Given the description of an element on the screen output the (x, y) to click on. 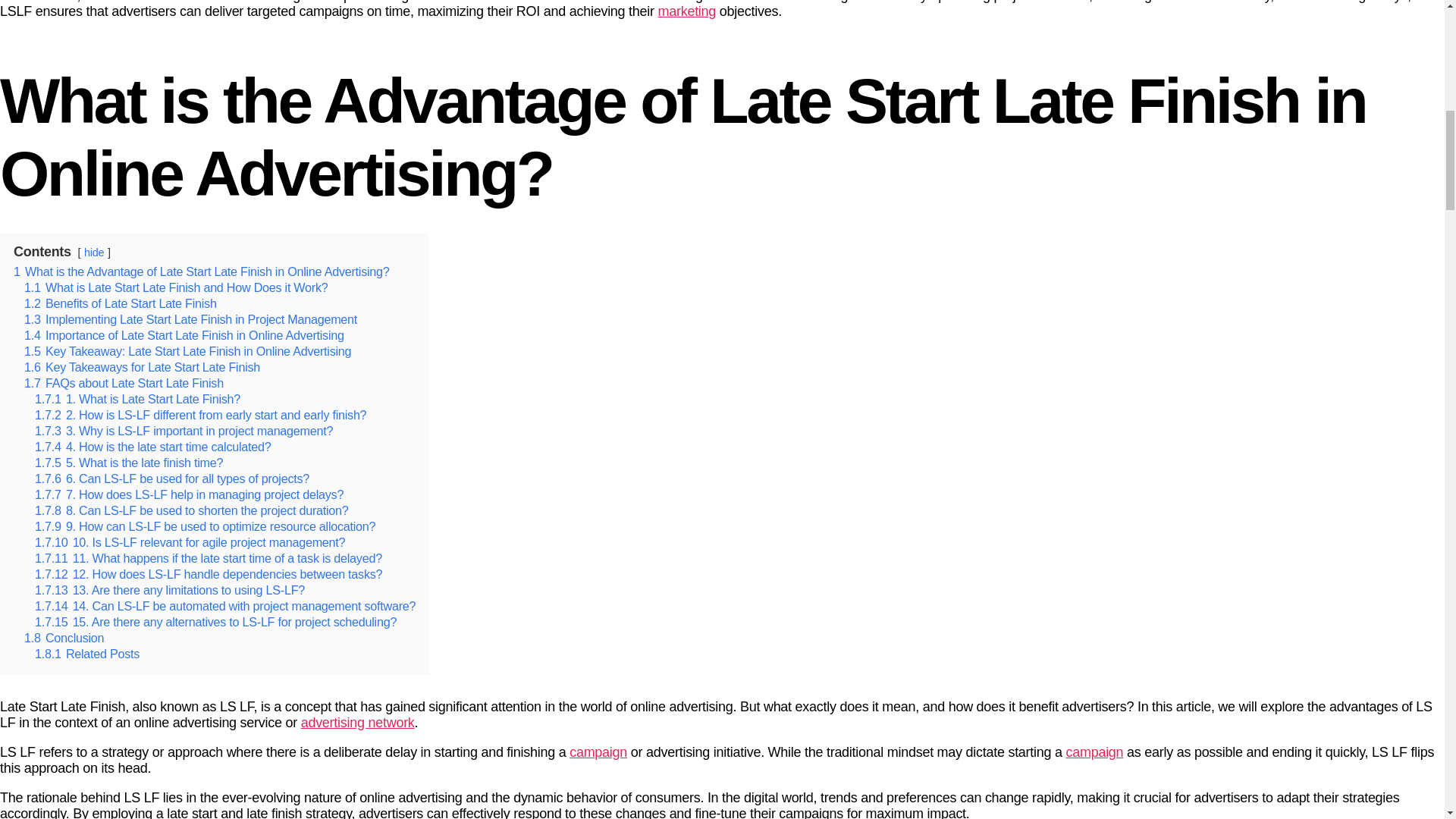
marketing (687, 11)
campaign (1093, 752)
advertising network (357, 722)
campaign (598, 752)
